Given the description of an element on the screen output the (x, y) to click on. 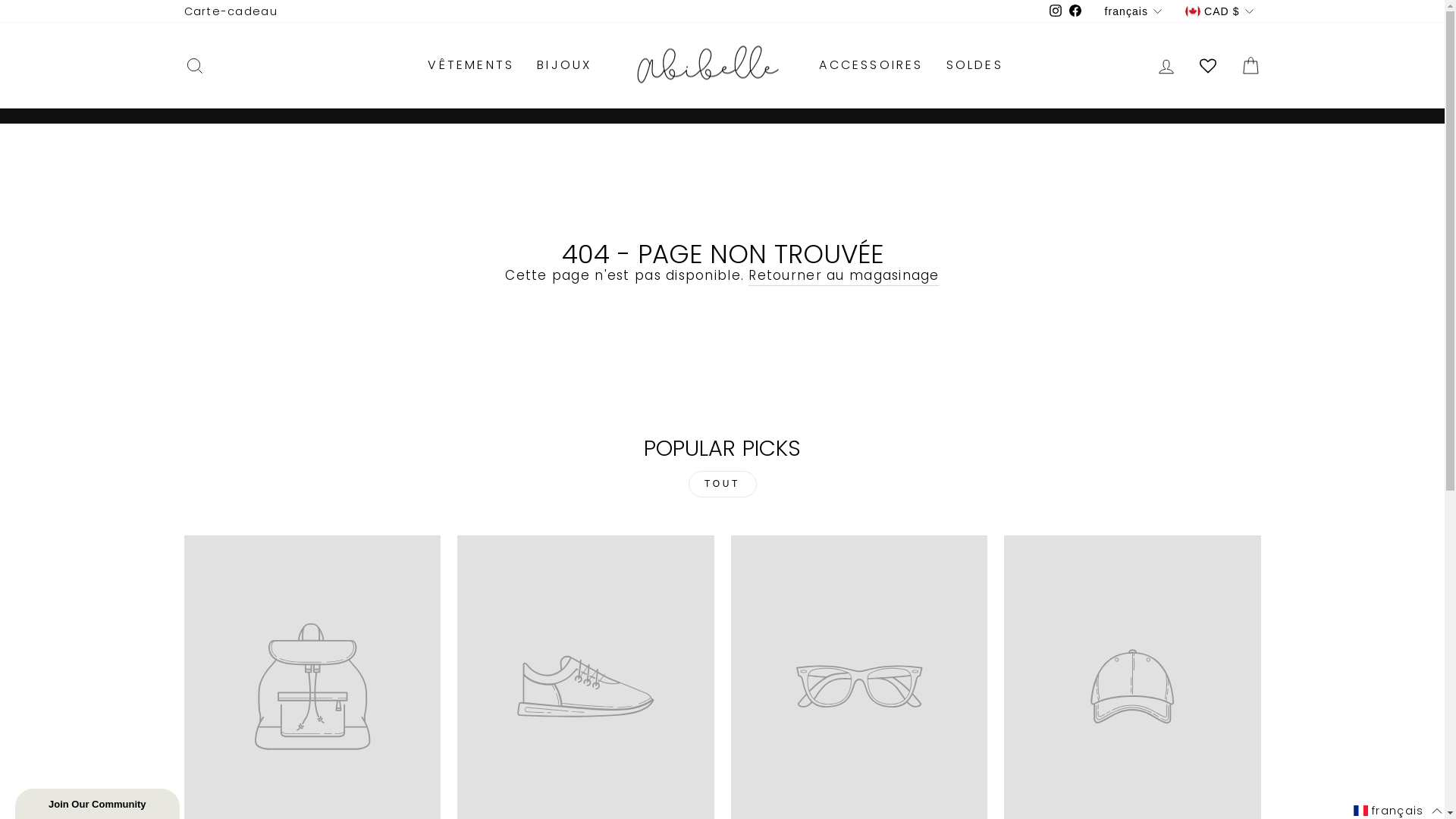
SOLDES Element type: text (974, 65)
TOUT Element type: text (722, 483)
SE CONNECTER Element type: text (1166, 65)
ACCESSOIRES Element type: text (870, 65)
Passer au contenu Element type: text (0, 0)
Facebook Element type: text (1067, 11)
RECHERCHER Element type: text (193, 65)
Instagram Element type: text (1047, 11)
Retourner au magasinage Element type: text (843, 275)
CAD $ Element type: text (1218, 11)
Carte-cadeau Element type: text (229, 11)
BIJOUX Element type: text (563, 65)
PANIER Element type: text (1249, 65)
